Given the description of an element on the screen output the (x, y) to click on. 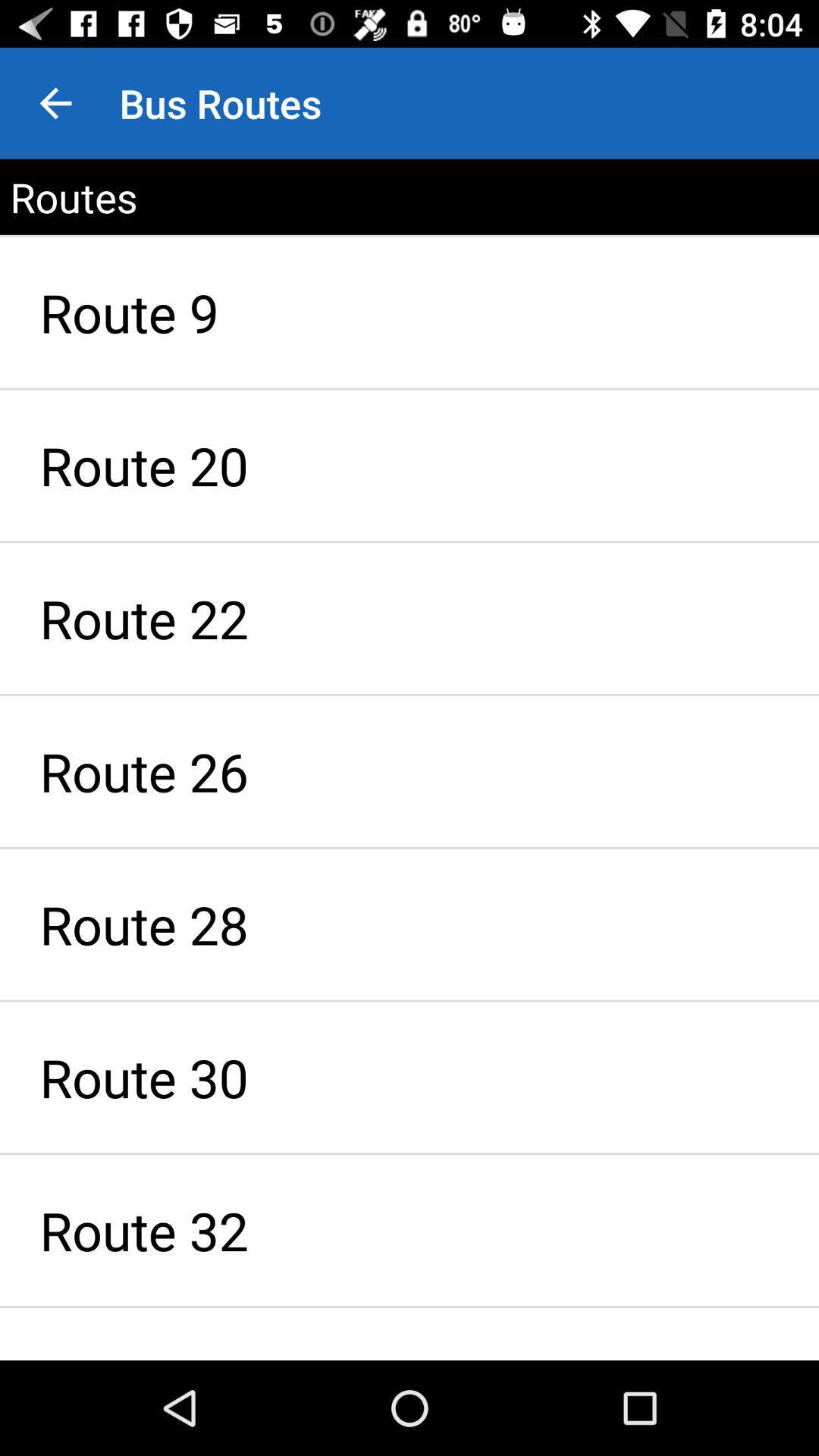
select the icon above route 32 (409, 1077)
